Given the description of an element on the screen output the (x, y) to click on. 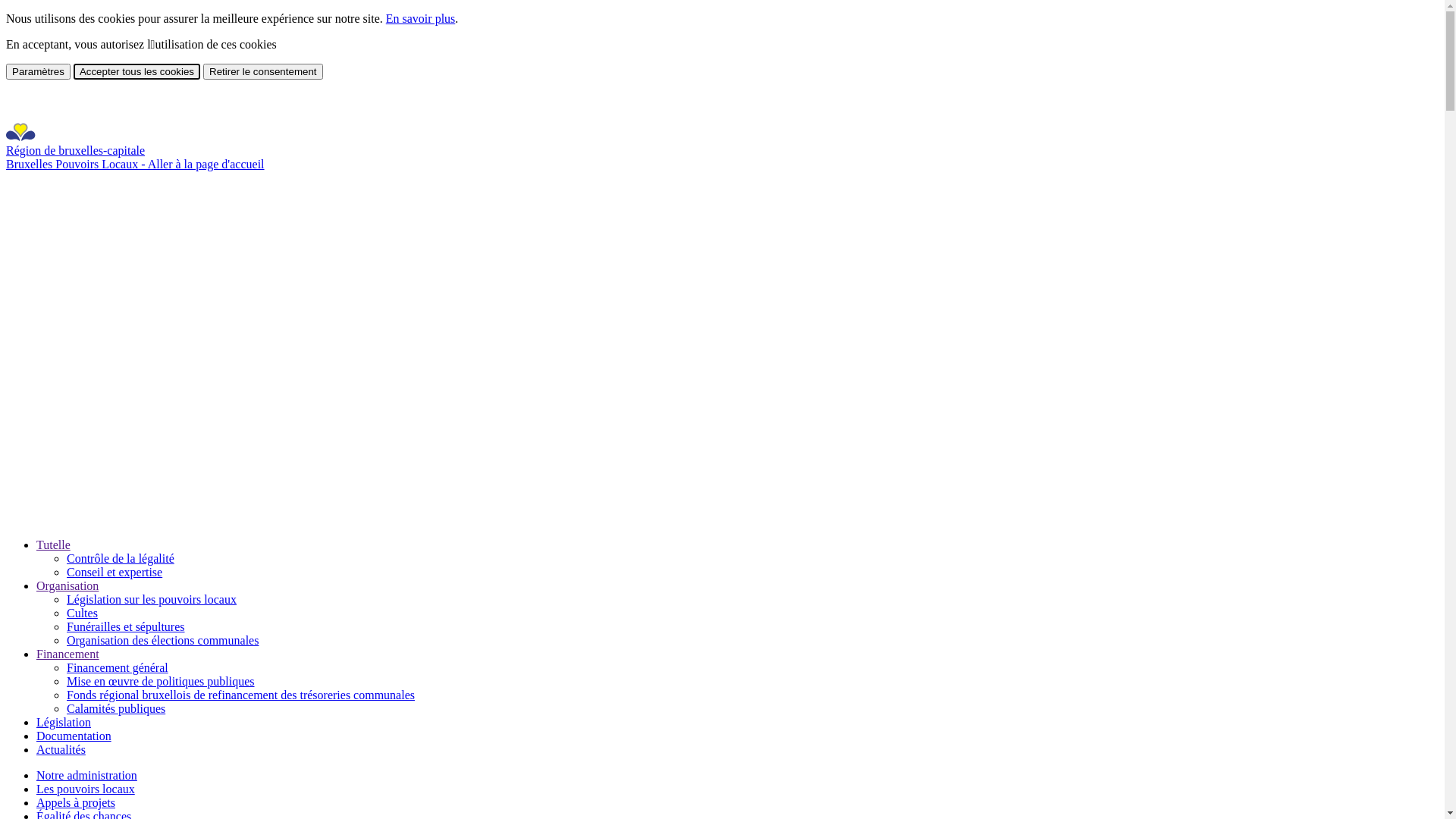
Les pouvoirs locaux Element type: text (85, 788)
Cultes Element type: text (81, 612)
Tutelle Element type: text (53, 544)
Documentation Element type: text (73, 735)
Notre administration Element type: text (86, 774)
En savoir plus Element type: text (420, 18)
Organisation Element type: text (67, 585)
Financement Element type: text (67, 653)
Conseil et expertise Element type: text (114, 571)
Accepter tous les cookies Element type: text (136, 71)
Retirer le consentement Element type: text (263, 71)
